Given the description of an element on the screen output the (x, y) to click on. 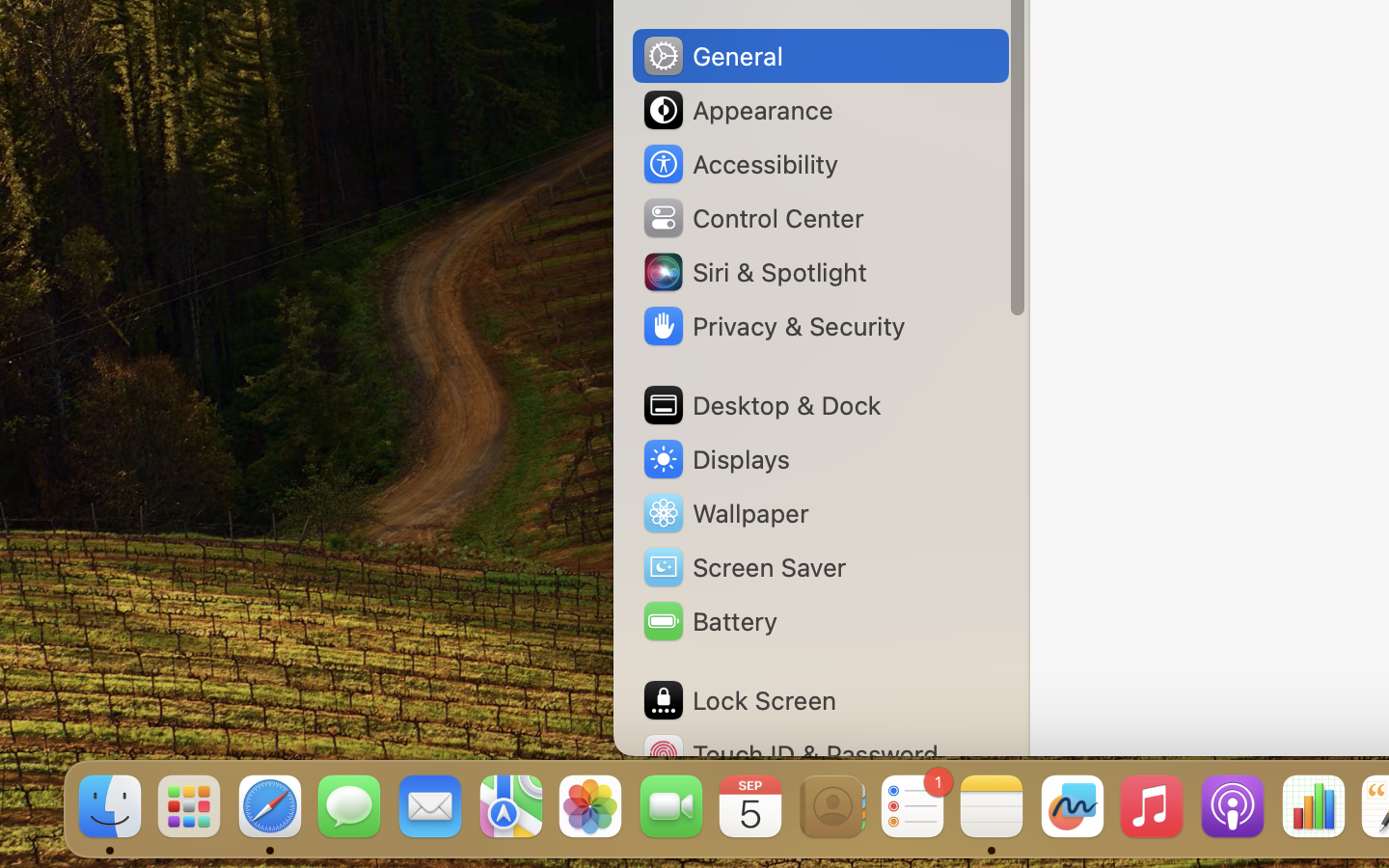
Privacy & Security Element type: AXStaticText (772, 325)
Lock Screen Element type: AXStaticText (738, 700)
Accessibility Element type: AXStaticText (739, 163)
Siri & Spotlight Element type: AXStaticText (753, 271)
Touch ID & Password Element type: AXStaticText (789, 754)
